Given the description of an element on the screen output the (x, y) to click on. 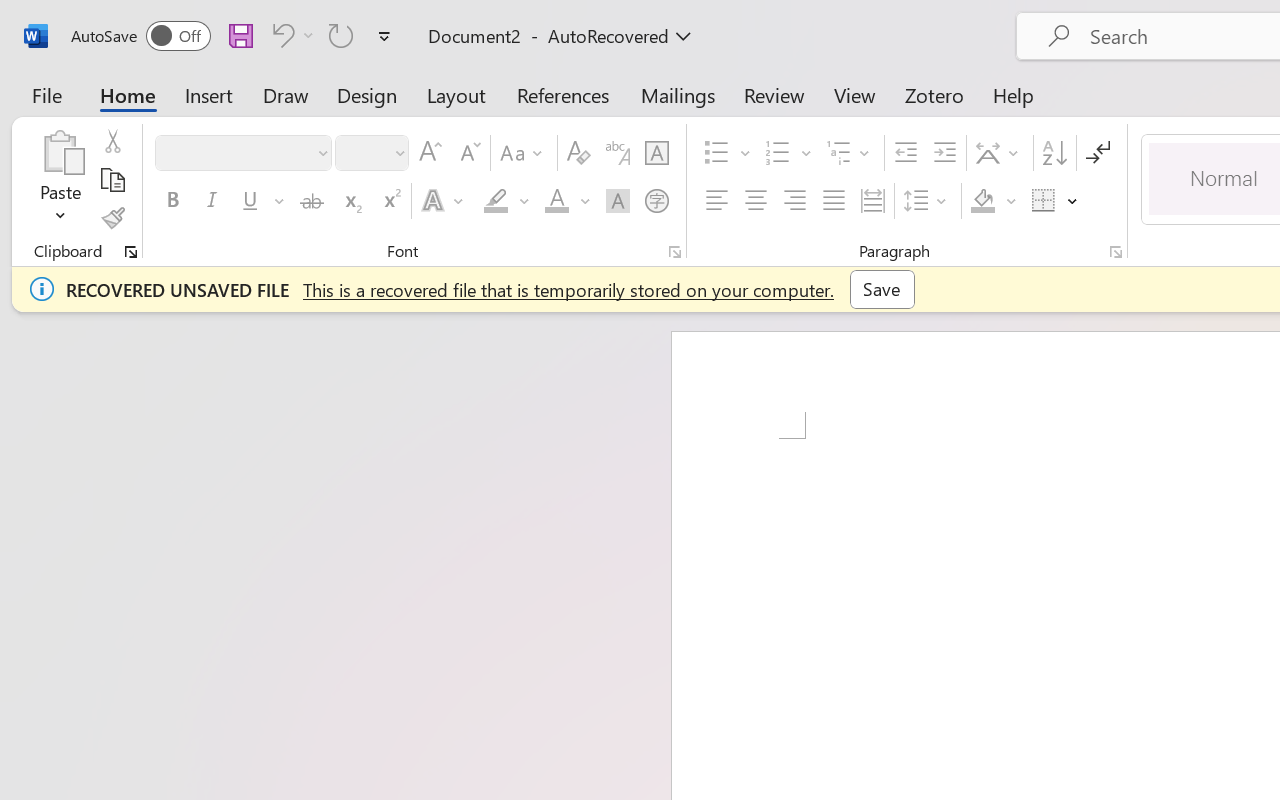
Paragraph... (1115, 252)
Can't Repeat (341, 35)
Font Color (567, 201)
Grow Font (430, 153)
Format Painter (112, 218)
Open (399, 152)
Line and Paragraph Spacing (927, 201)
Shrink Font (468, 153)
Align Right (794, 201)
